Given the description of an element on the screen output the (x, y) to click on. 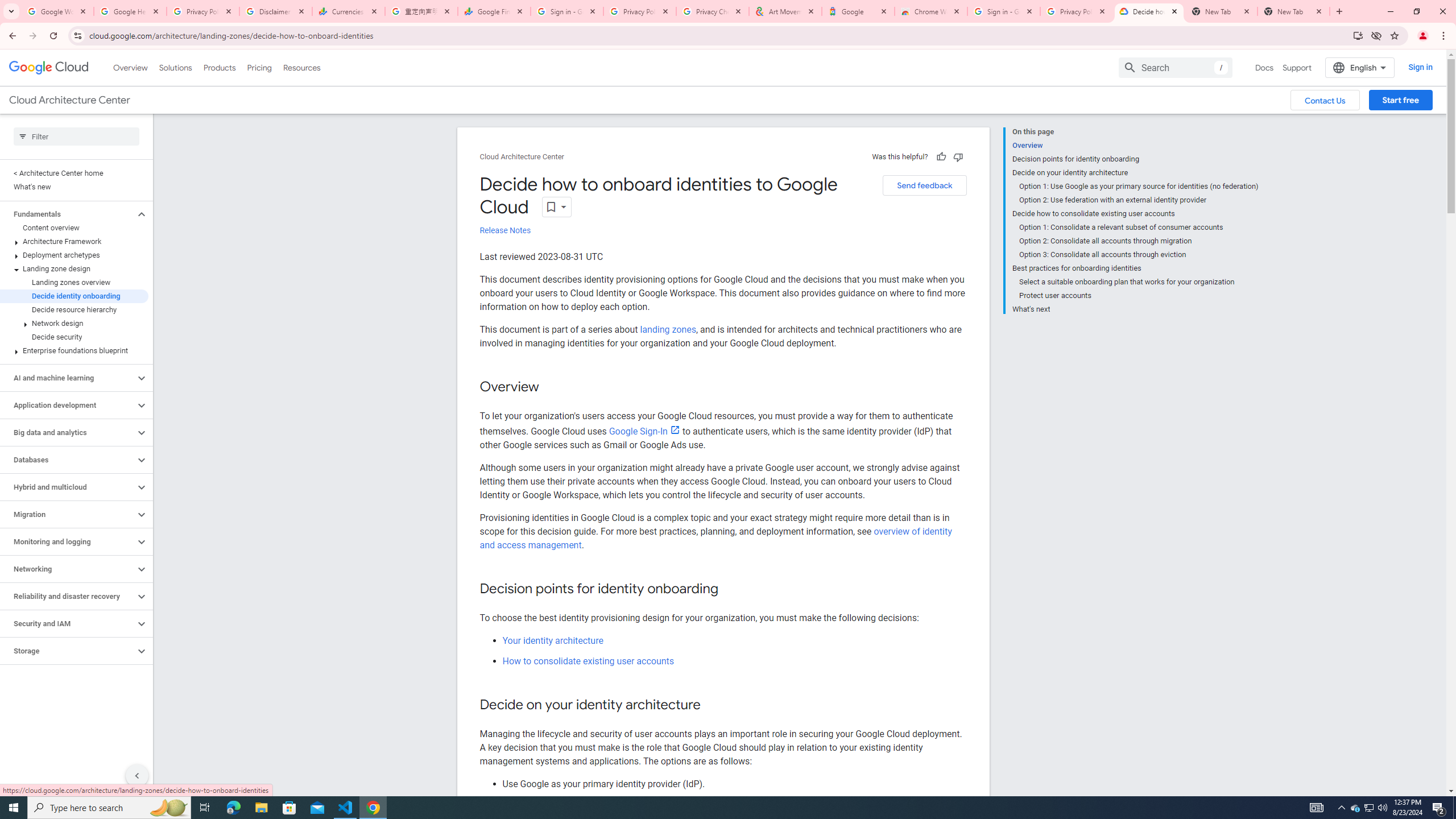
Option 1: Consolidate a relevant subset of consumer accounts (1138, 227)
Monitoring and logging (67, 541)
Application development (67, 404)
Decide how to consolidate existing user accounts (1134, 213)
Reliability and disaster recovery (67, 596)
Solutions (175, 67)
Decide identity onboarding (74, 296)
Option 2: Consolidate all accounts through migration (1138, 241)
Install Google Cloud (1358, 35)
